Given the description of an element on the screen output the (x, y) to click on. 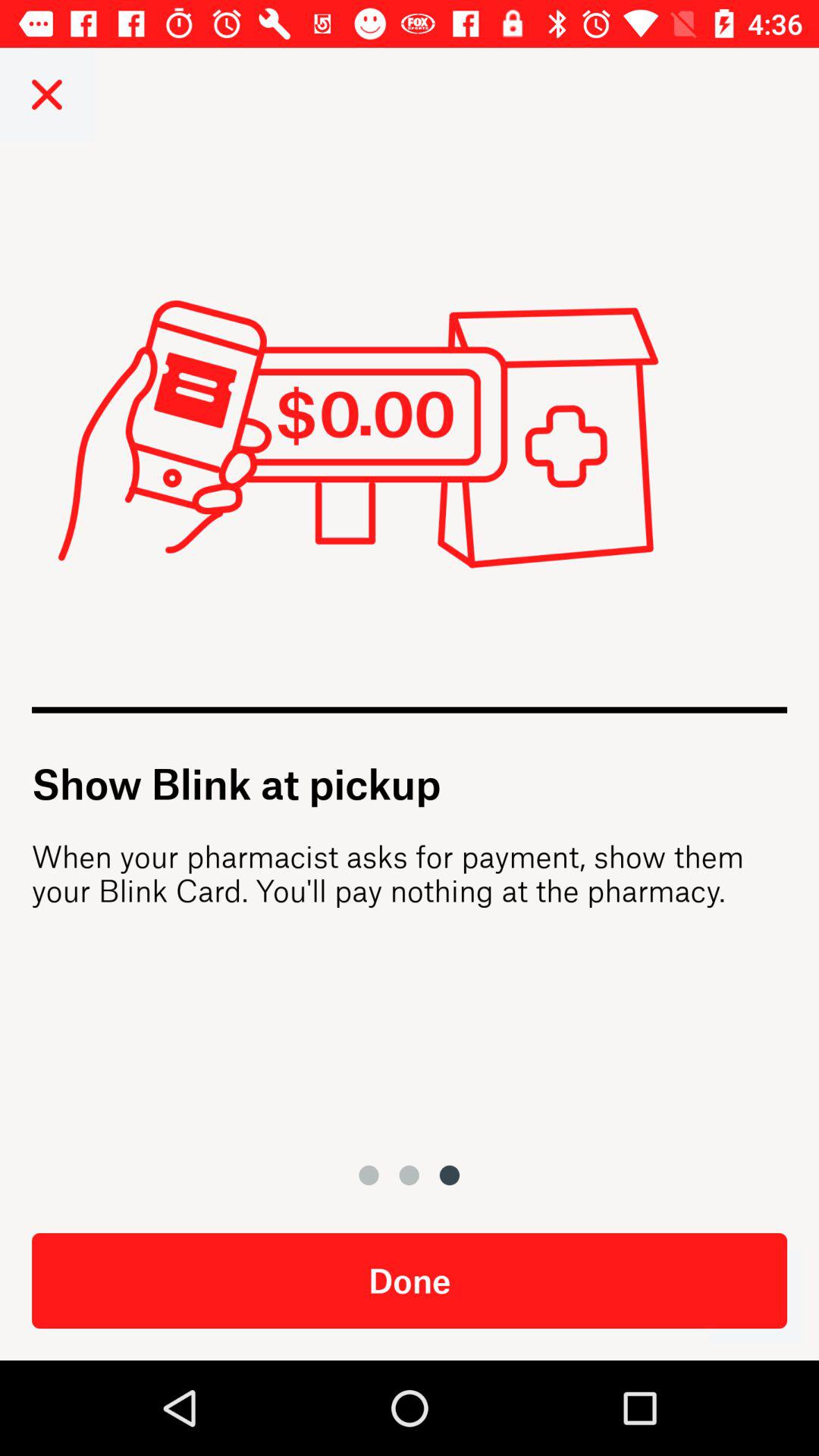
finish slide tutorial (755, 1296)
